Given the description of an element on the screen output the (x, y) to click on. 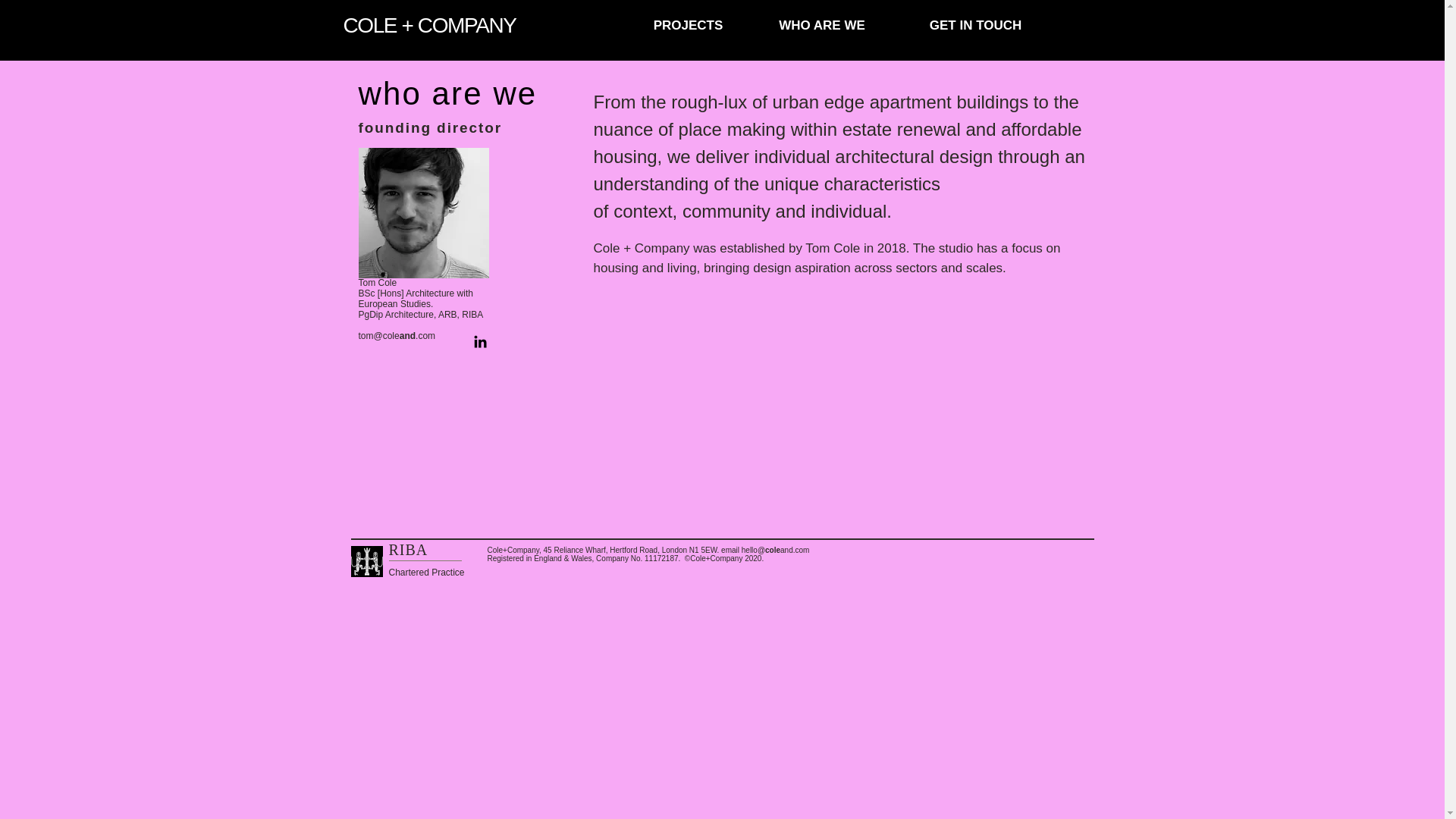
WHO ARE WE (822, 25)
RIBA Crest.jpg (365, 561)
tom cole.jpg (422, 213)
GET IN TOUCH (975, 25)
PROJECTS (688, 25)
